Given the description of an element on the screen output the (x, y) to click on. 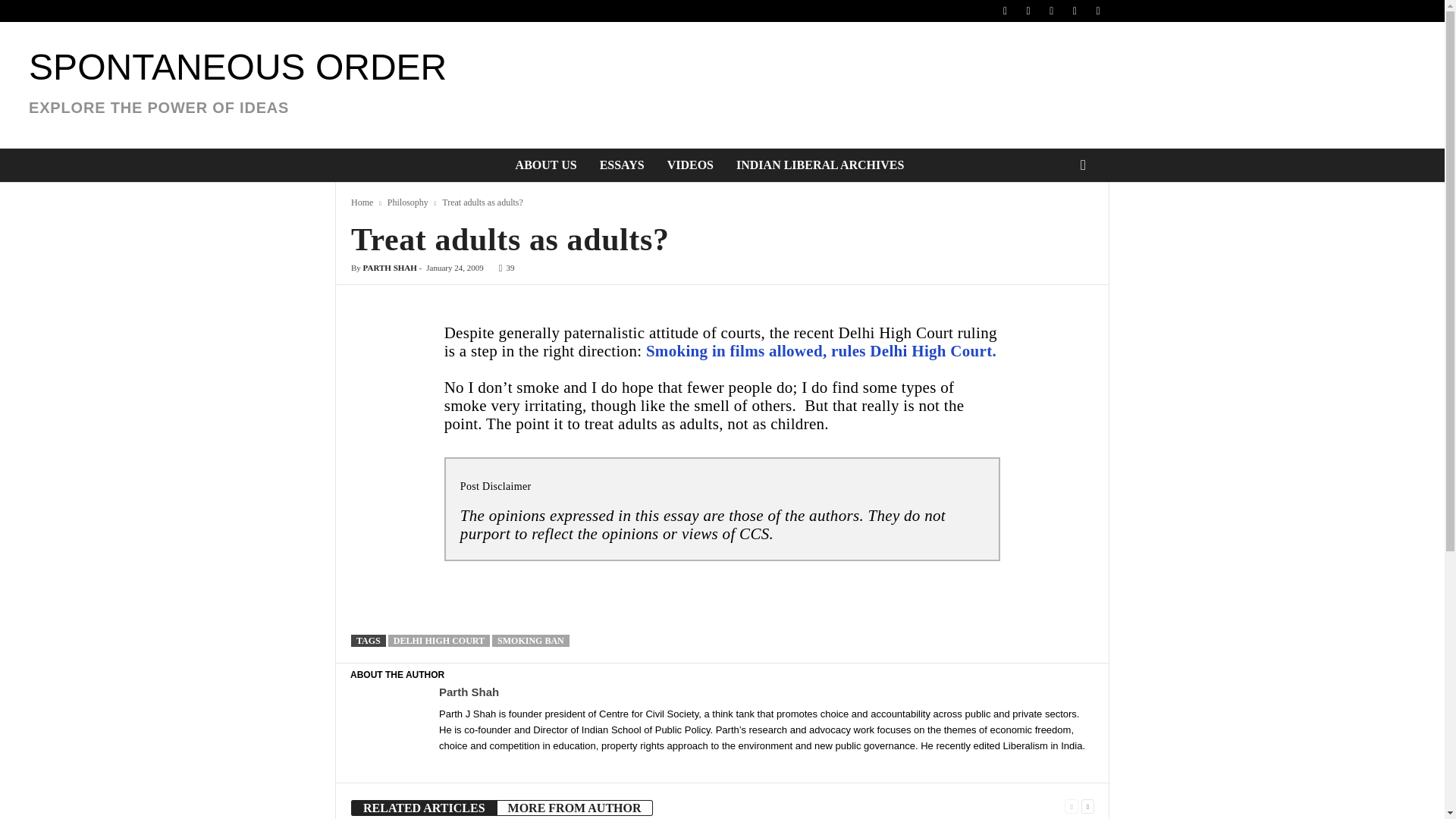
ABOUT US (545, 164)
ESSAYS (622, 164)
View all posts in Philosophy (407, 202)
VIDEOS (690, 164)
